Given the description of an element on the screen output the (x, y) to click on. 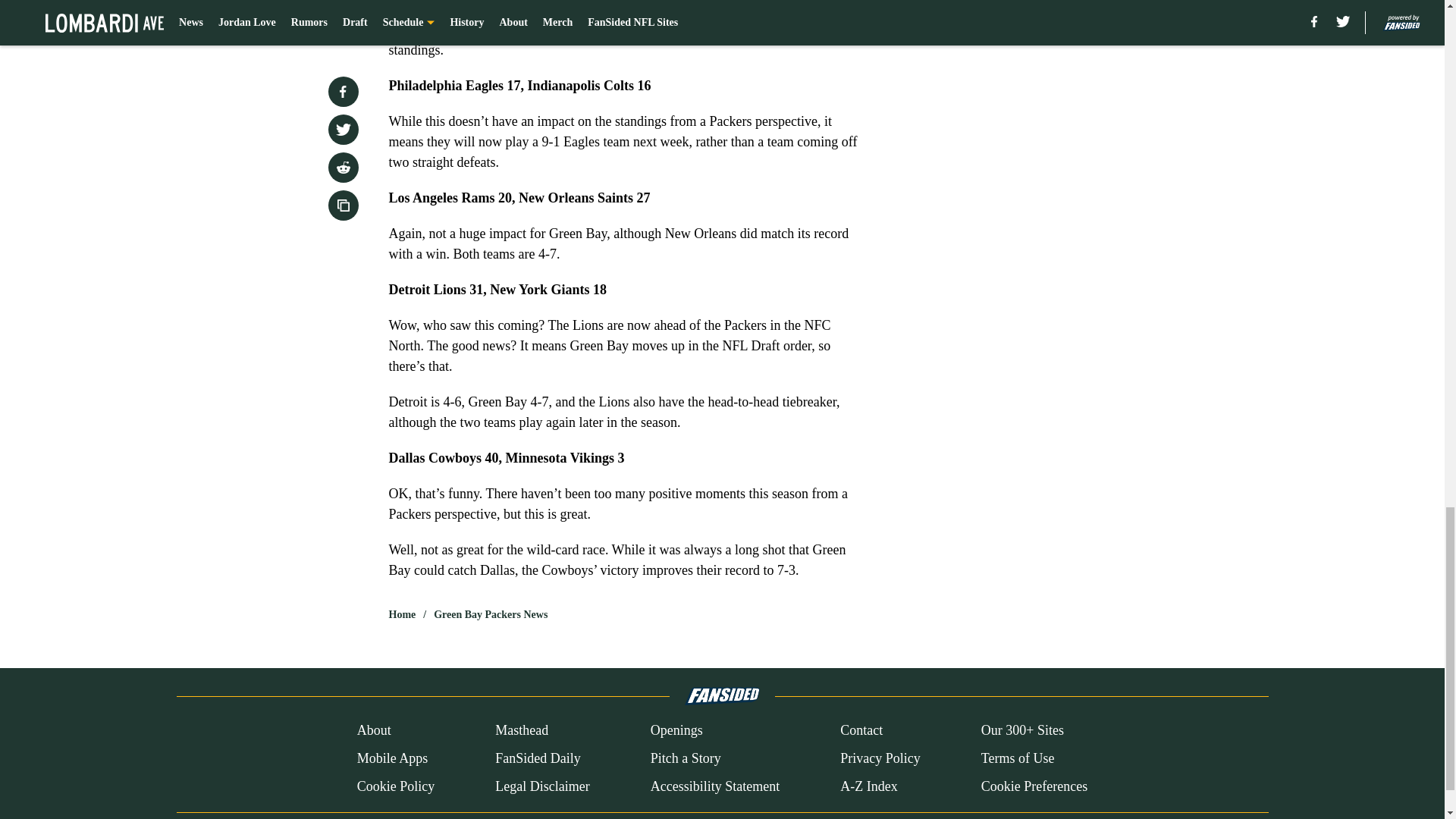
Cookie Policy (395, 786)
FanSided Daily (537, 758)
Pitch a Story (685, 758)
Accessibility Statement (714, 786)
Green Bay Packers News (490, 614)
A-Z Index (868, 786)
Mobile Apps (392, 758)
Masthead (521, 730)
Privacy Policy (880, 758)
Legal Disclaimer (542, 786)
Openings (676, 730)
Terms of Use (1017, 758)
Contact (861, 730)
About (373, 730)
Cookie Preferences (1034, 786)
